Given the description of an element on the screen output the (x, y) to click on. 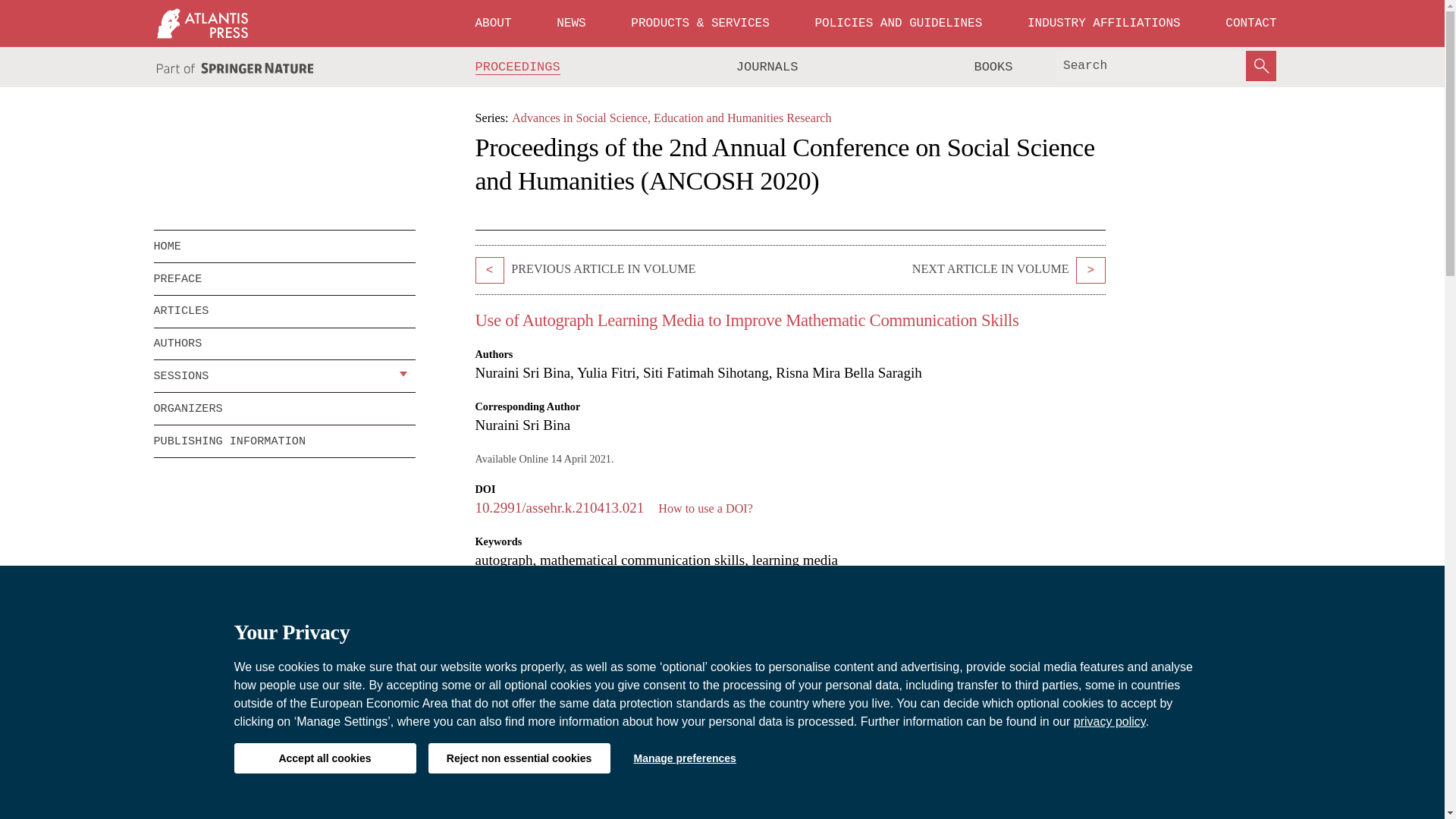
ABOUT (493, 23)
ARTICLES (283, 311)
INDUSTRY AFFILIATIONS (1104, 23)
Atlantis Press is Part of Springer Nature (234, 67)
PREFACE (283, 278)
Atlantis Press (201, 23)
ORGANIZERS (283, 409)
Manage preferences (683, 757)
POLICIES AND GUIDELINES (897, 23)
CONTACT (1250, 23)
